Given the description of an element on the screen output the (x, y) to click on. 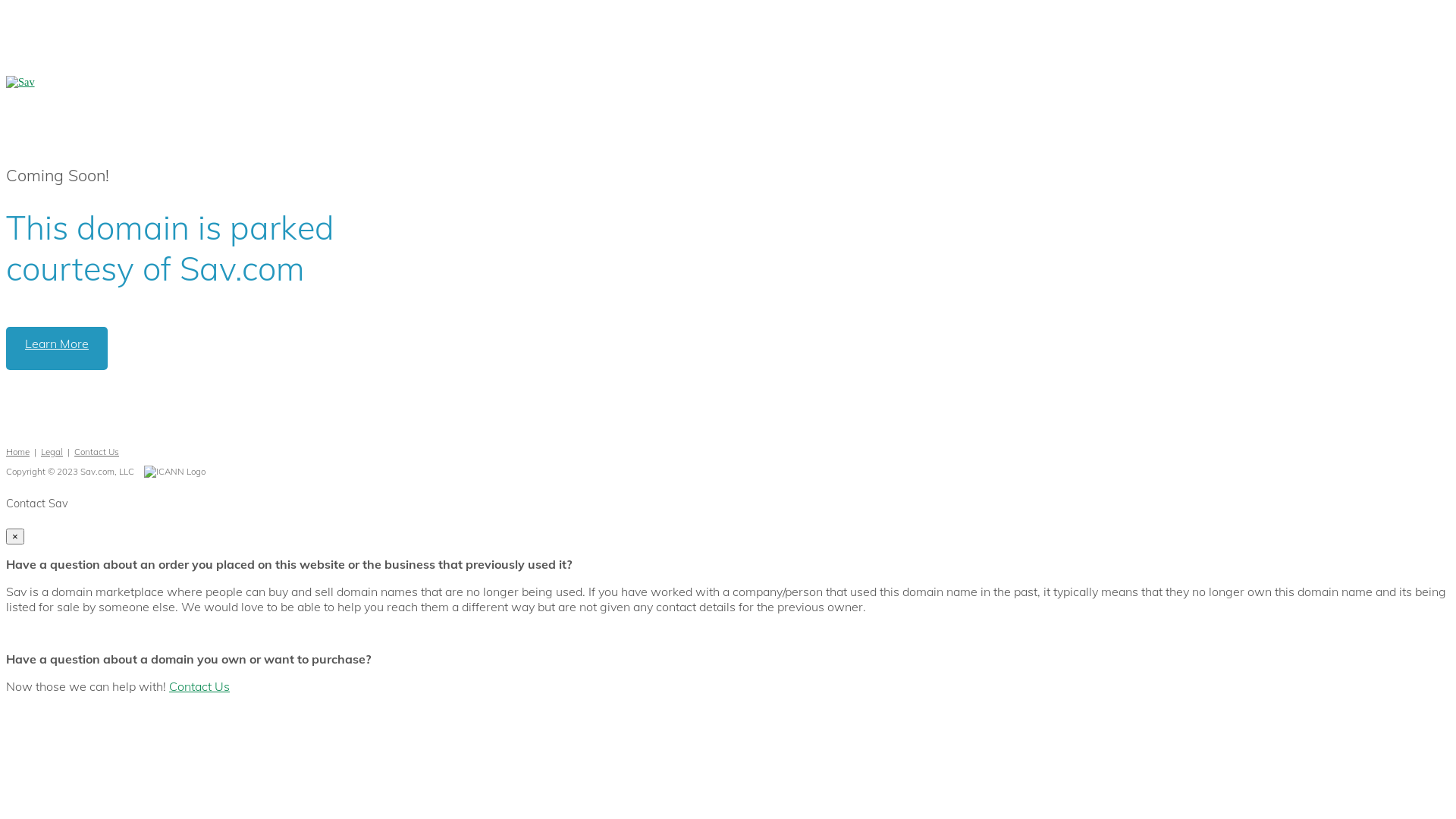
Learn More Element type: text (56, 348)
Contact Us Element type: text (199, 685)
Contact Us Element type: text (96, 451)
Legal Element type: text (51, 451)
Home Element type: text (17, 451)
